Given the description of an element on the screen output the (x, y) to click on. 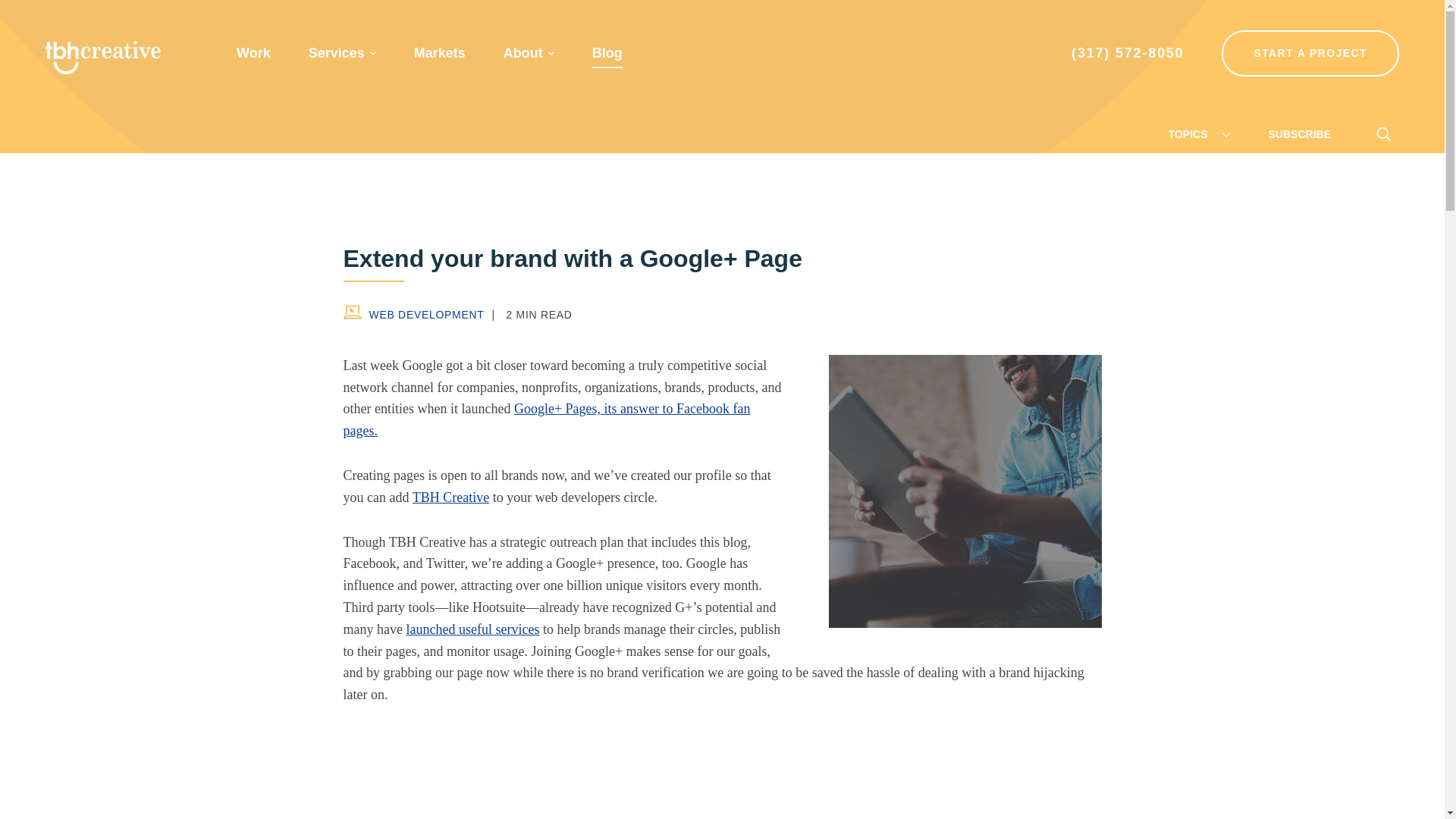
About (523, 52)
SUBSCRIBE (1299, 134)
Work (252, 52)
launched useful services (472, 629)
WEB DEVELOPMENT (412, 313)
TBH Creative (450, 497)
TBH Creative (102, 57)
Markets (439, 52)
START A PROJECT (1310, 53)
SUBSCRIBE (1299, 134)
